Given the description of an element on the screen output the (x, y) to click on. 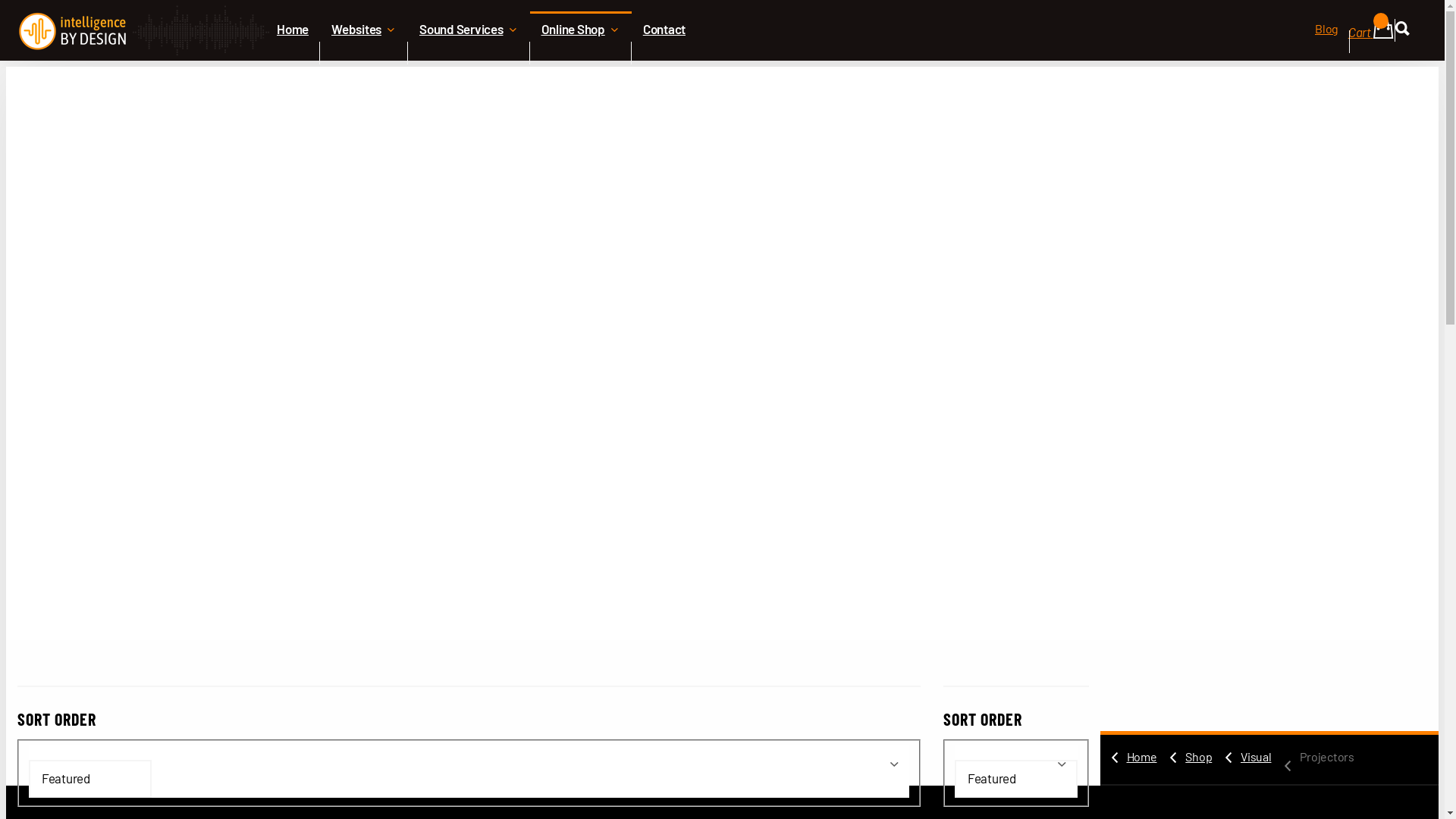
Shop Element type: text (1196, 757)
Intelligence By Design PTY LTD Element type: text (143, 29)
Home Element type: text (292, 53)
Skip to the content Element type: text (721, 12)
Blog Element type: text (1326, 41)
Home Element type: text (1139, 757)
Cart Element type: text (1371, 37)
Contact Element type: text (663, 53)
Online Shop Element type: text (579, 53)
Websites Element type: text (363, 53)
Visual Element type: text (1254, 757)
Sound Services Element type: text (468, 53)
